Given the description of an element on the screen output the (x, y) to click on. 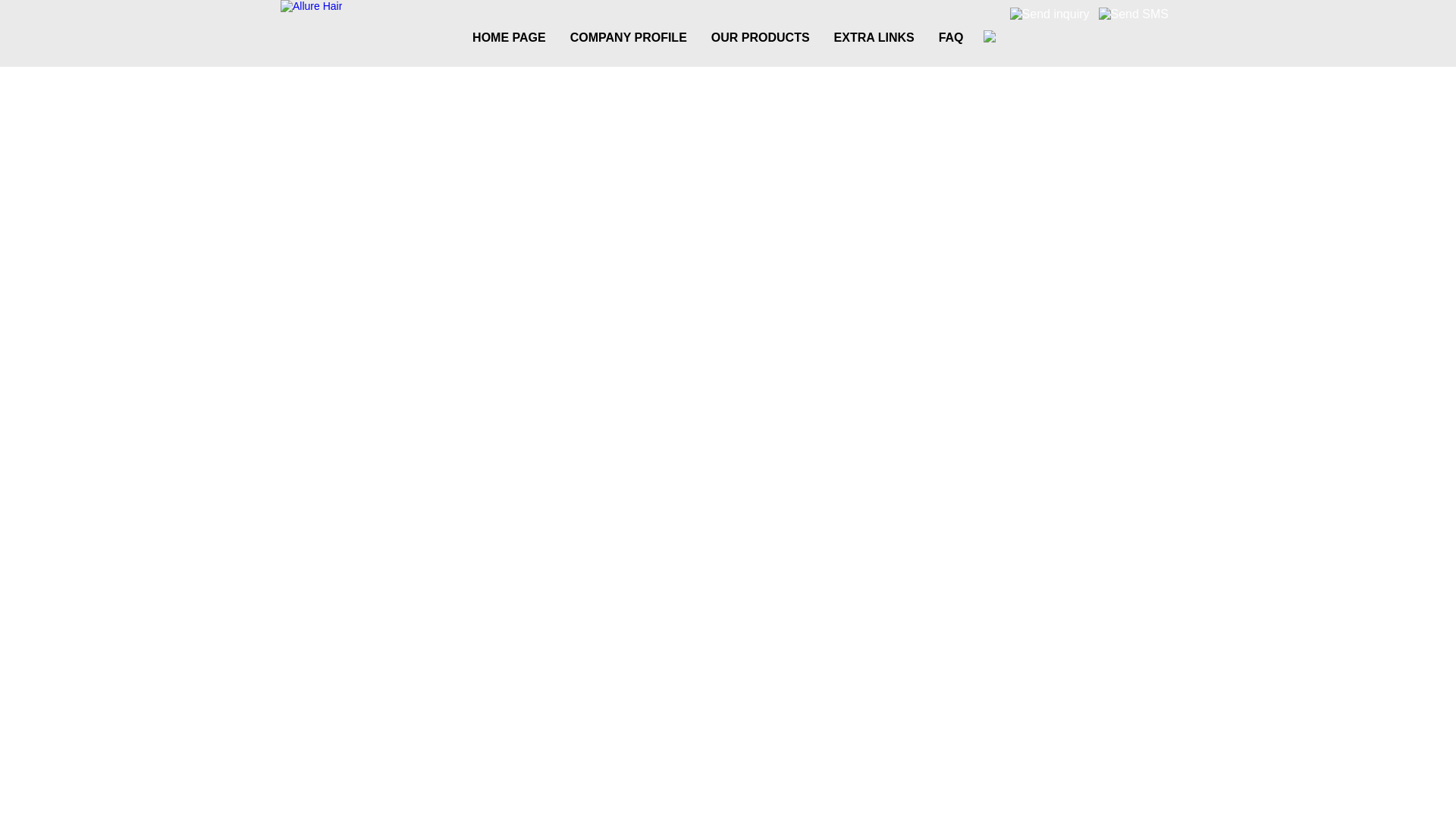
Allure Hair (311, 6)
Send inquiry (1049, 14)
COMPANY PROFILE (627, 37)
HOME PAGE (508, 37)
Send SMS (1134, 14)
OUR PRODUCTS (760, 37)
